Given the description of an element on the screen output the (x, y) to click on. 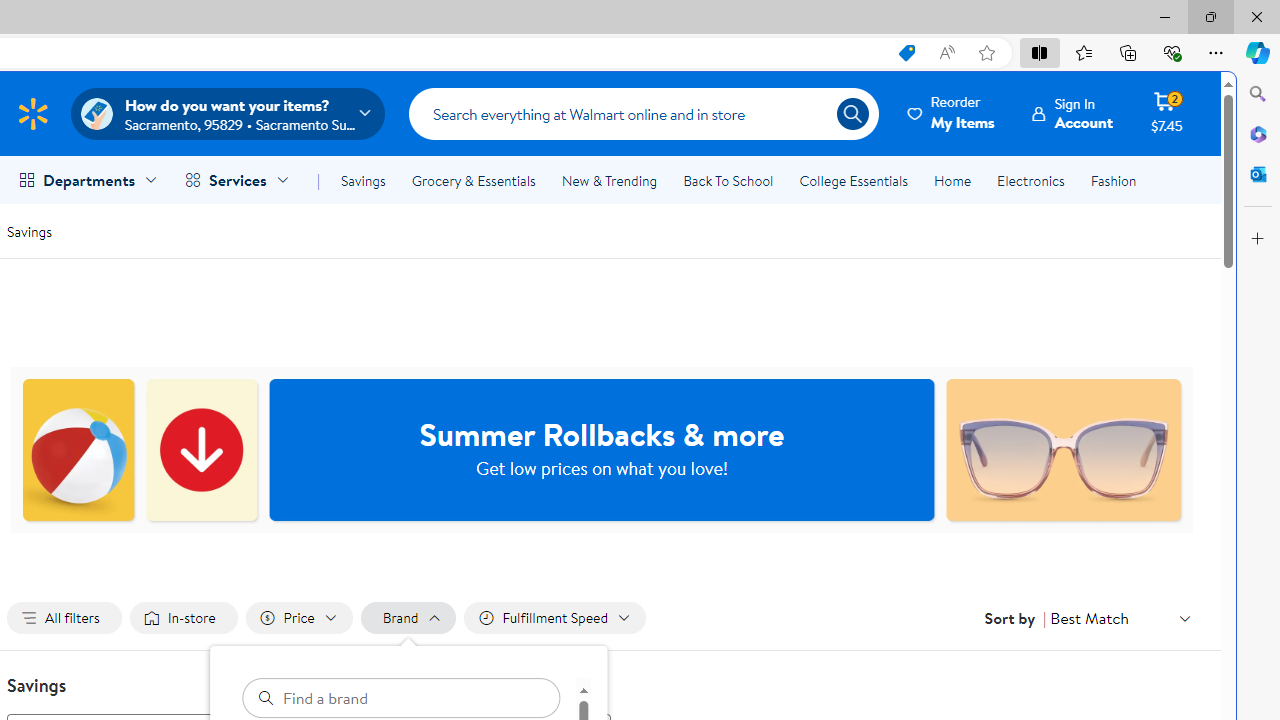
College Essentials (852, 180)
Electronics (1030, 180)
Fashion (1113, 180)
Home (952, 180)
New & Trending (608, 180)
Filter by Brand not applied, activate to change (407, 618)
Customize (1258, 239)
Savings (363, 180)
Savings (29, 230)
Cart contains 2 items Total Amount $7.45 (1166, 113)
Walmart Homepage (32, 113)
